Given the description of an element on the screen output the (x, y) to click on. 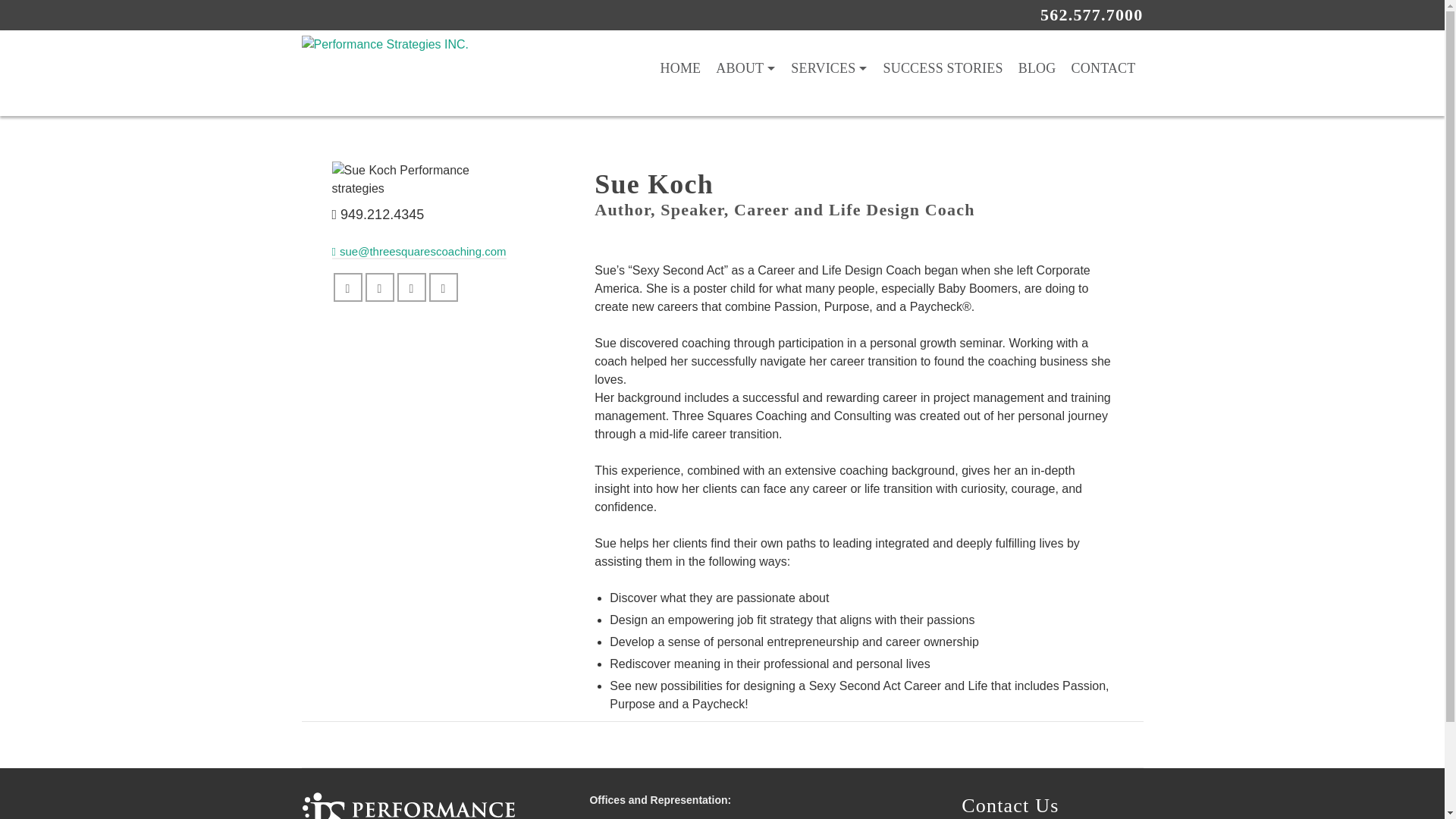
BLOG (1037, 68)
ABOUT (745, 68)
SUCCESS STORIES (942, 68)
CONTACT (1103, 68)
HOME (679, 68)
SERVICES (829, 68)
Sue-Koch-Performance-strategies (421, 179)
562.577.7000 (1091, 14)
